Given the description of an element on the screen output the (x, y) to click on. 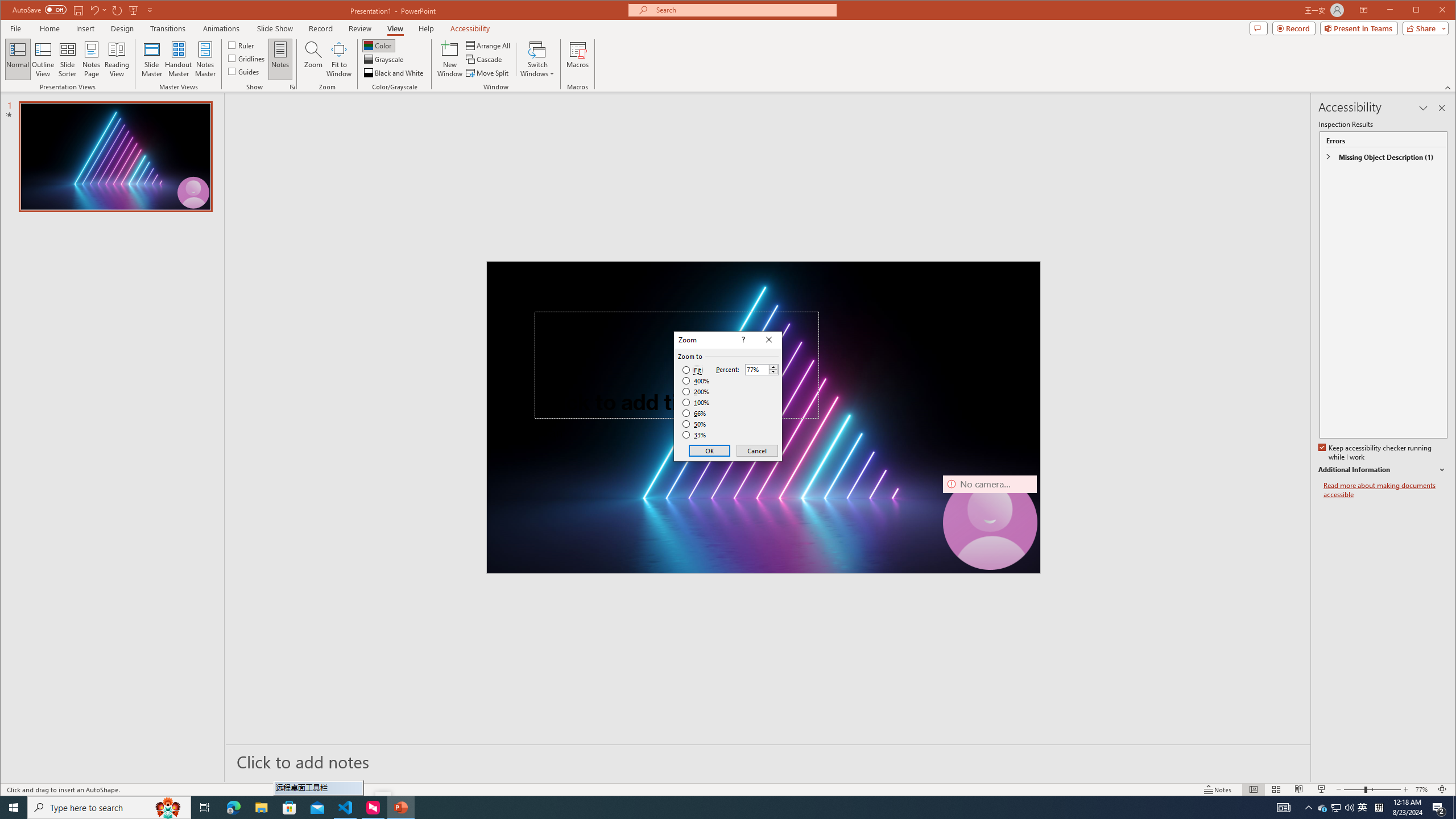
Fit to Window (338, 59)
